Given the description of an element on the screen output the (x, y) to click on. 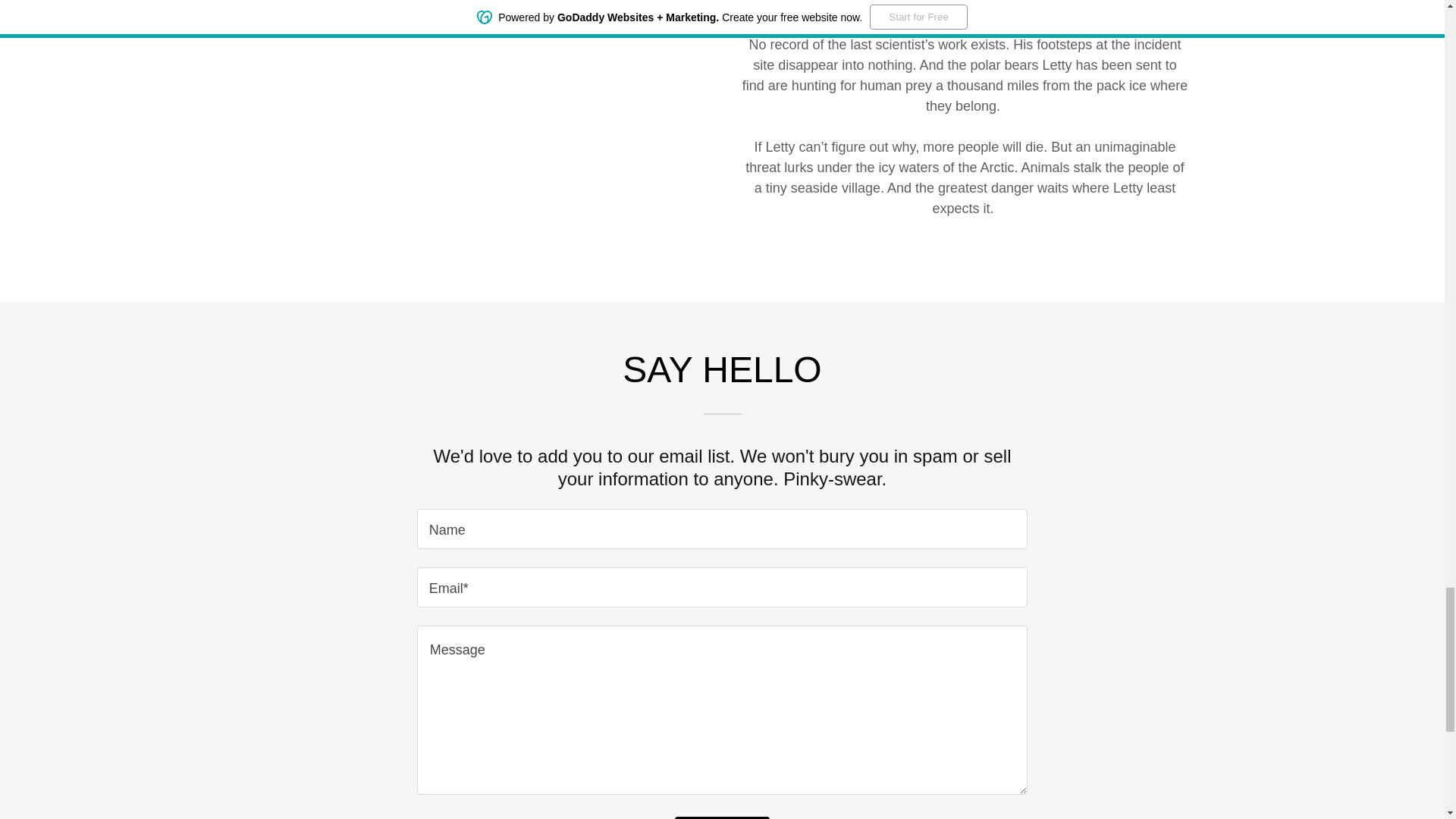
SEND (721, 817)
